Given the description of an element on the screen output the (x, y) to click on. 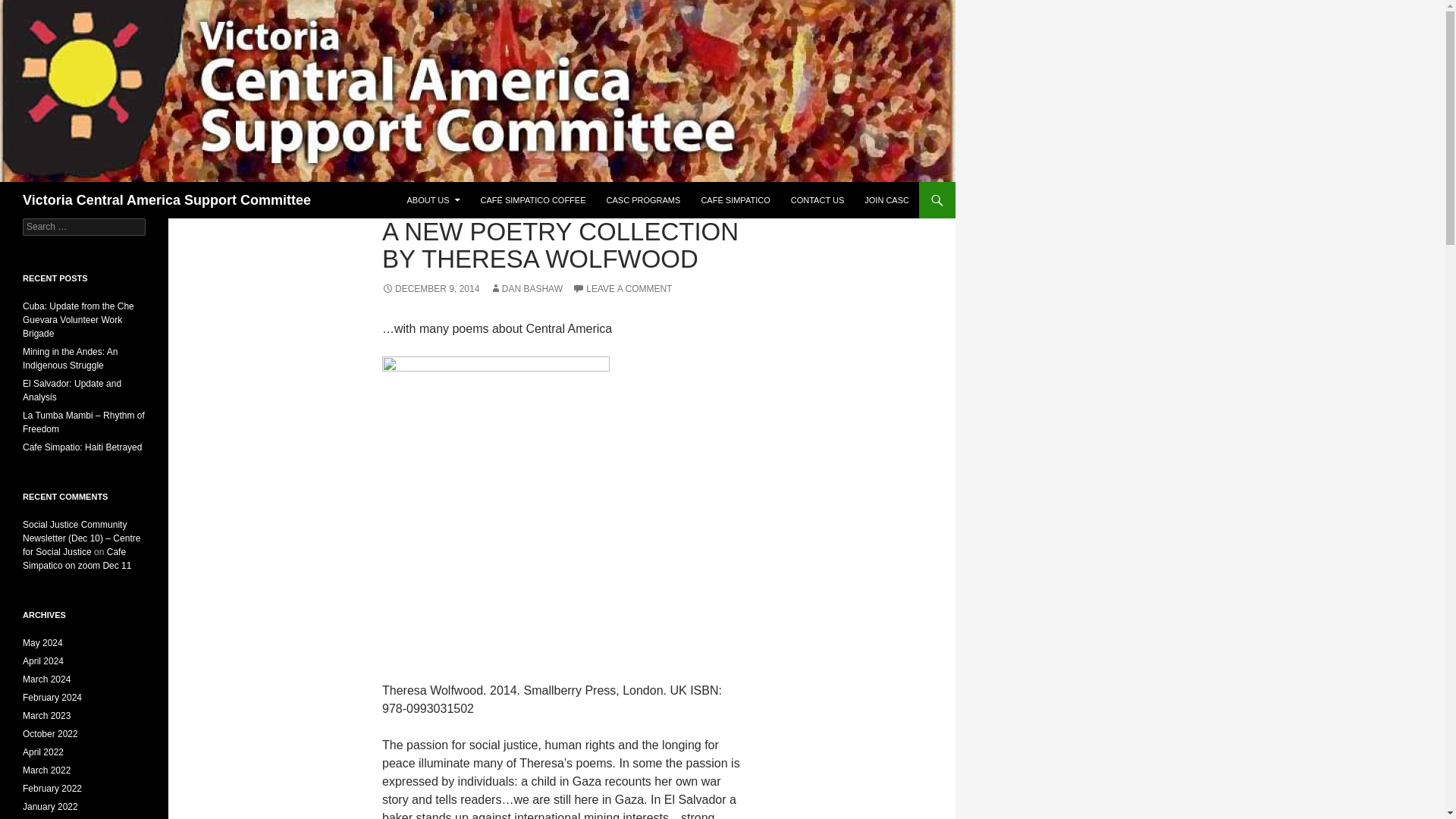
JOIN CASC (887, 199)
May 2024 (42, 643)
March 2024 (46, 679)
Mining in the Andes: An Indigenous Struggle (70, 358)
February 2022 (52, 787)
Search (30, 8)
April 2022 (43, 751)
October 2022 (50, 733)
BOOK REVIEW (414, 204)
DECEMBER 9, 2014 (430, 288)
LEAVE A COMMENT (621, 288)
ABOUT US (432, 199)
El Salvador: Update and Analysis (71, 390)
